Given the description of an element on the screen output the (x, y) to click on. 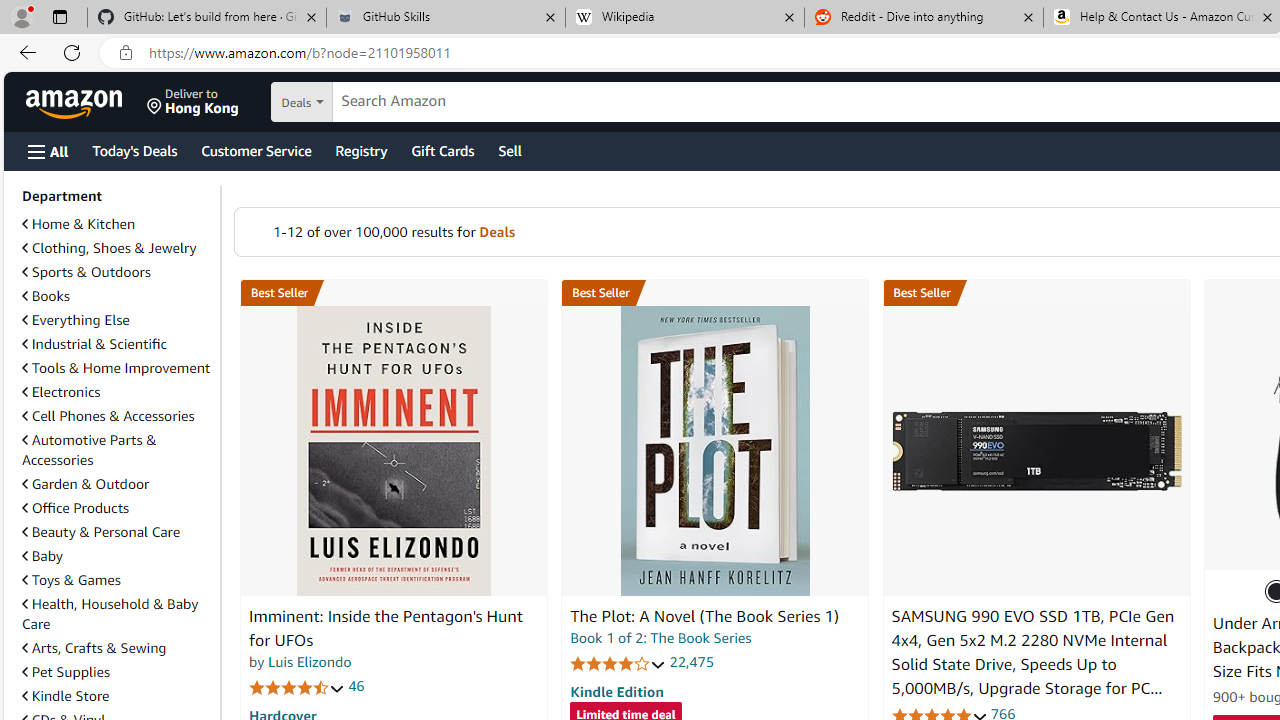
Toys & Games (71, 579)
Arts, Crafts & Sewing (93, 647)
Books (45, 296)
4.7 out of 5 stars (297, 686)
Home & Kitchen (117, 223)
Best Seller in Unexplained Mysteries (393, 293)
Best Seller in Internal Solid State Drives (1036, 293)
Search in (371, 102)
Pet Supplies (65, 672)
22,475 (691, 662)
Everything Else (117, 319)
Kindle Store (117, 696)
GitHub Skills (445, 17)
